Given the description of an element on the screen output the (x, y) to click on. 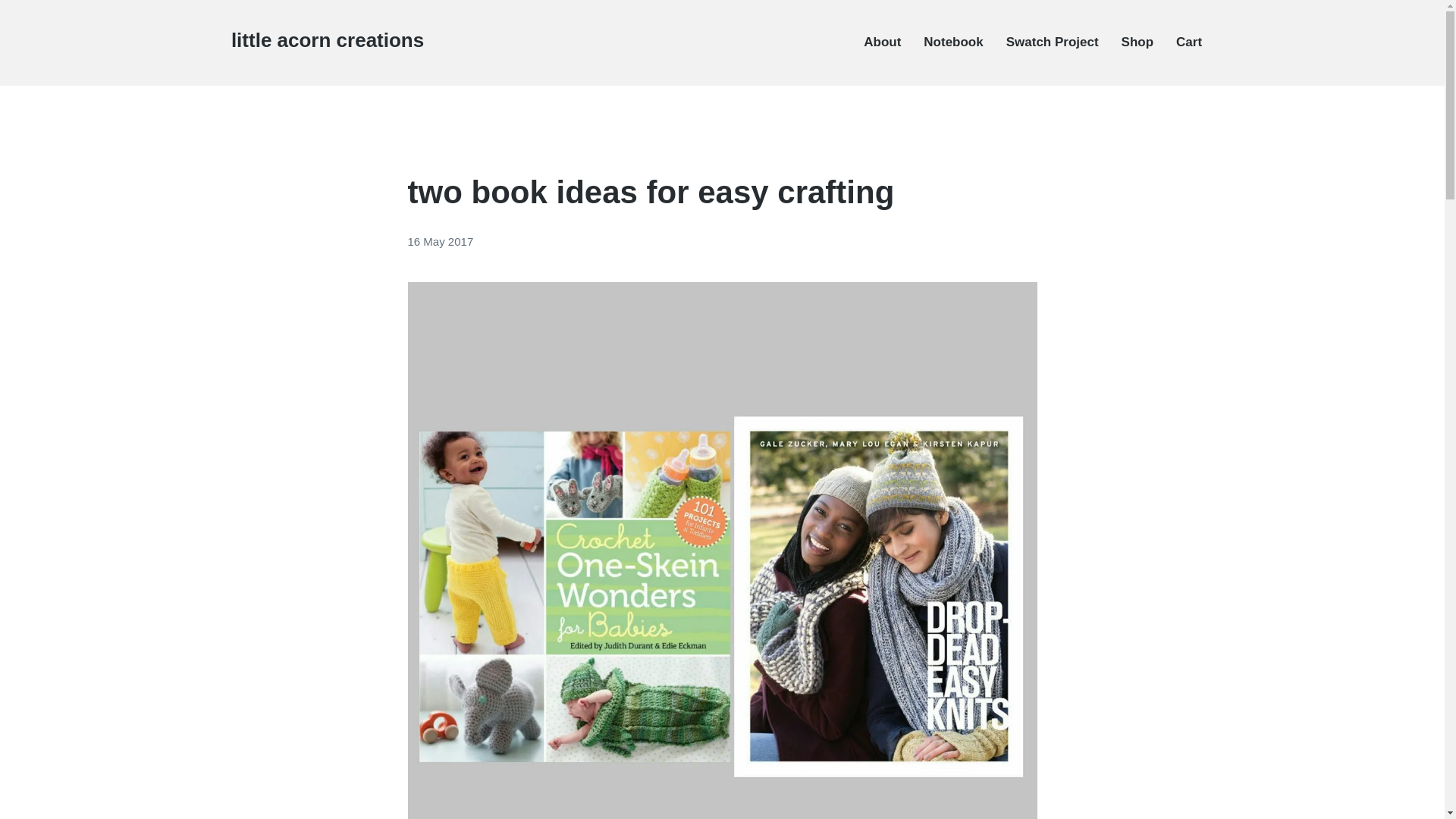
Cart (1189, 42)
About (882, 42)
little acorn creations (327, 39)
Notebook (952, 42)
Shop (1137, 42)
Swatch Project (1052, 42)
